Given the description of an element on the screen output the (x, y) to click on. 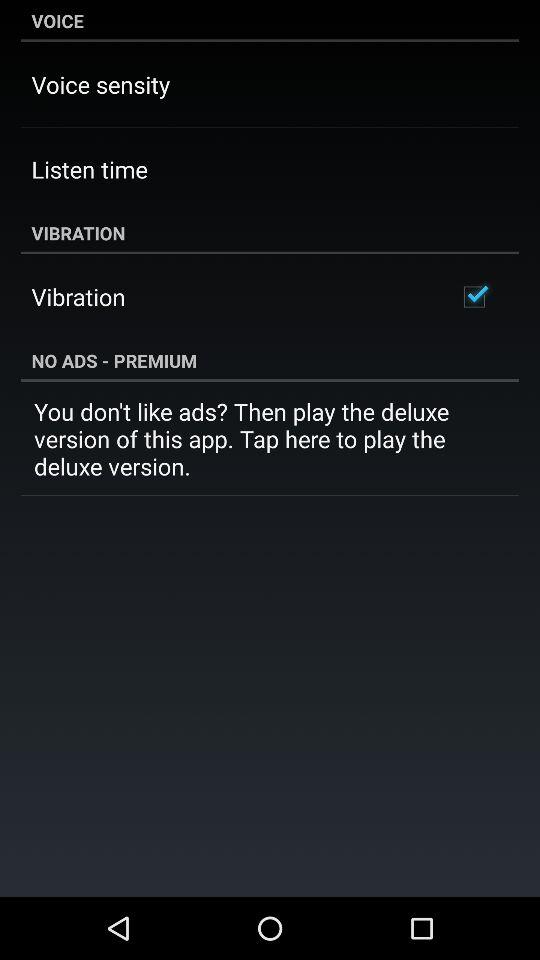
select item below the vibration app (474, 296)
